Given the description of an element on the screen output the (x, y) to click on. 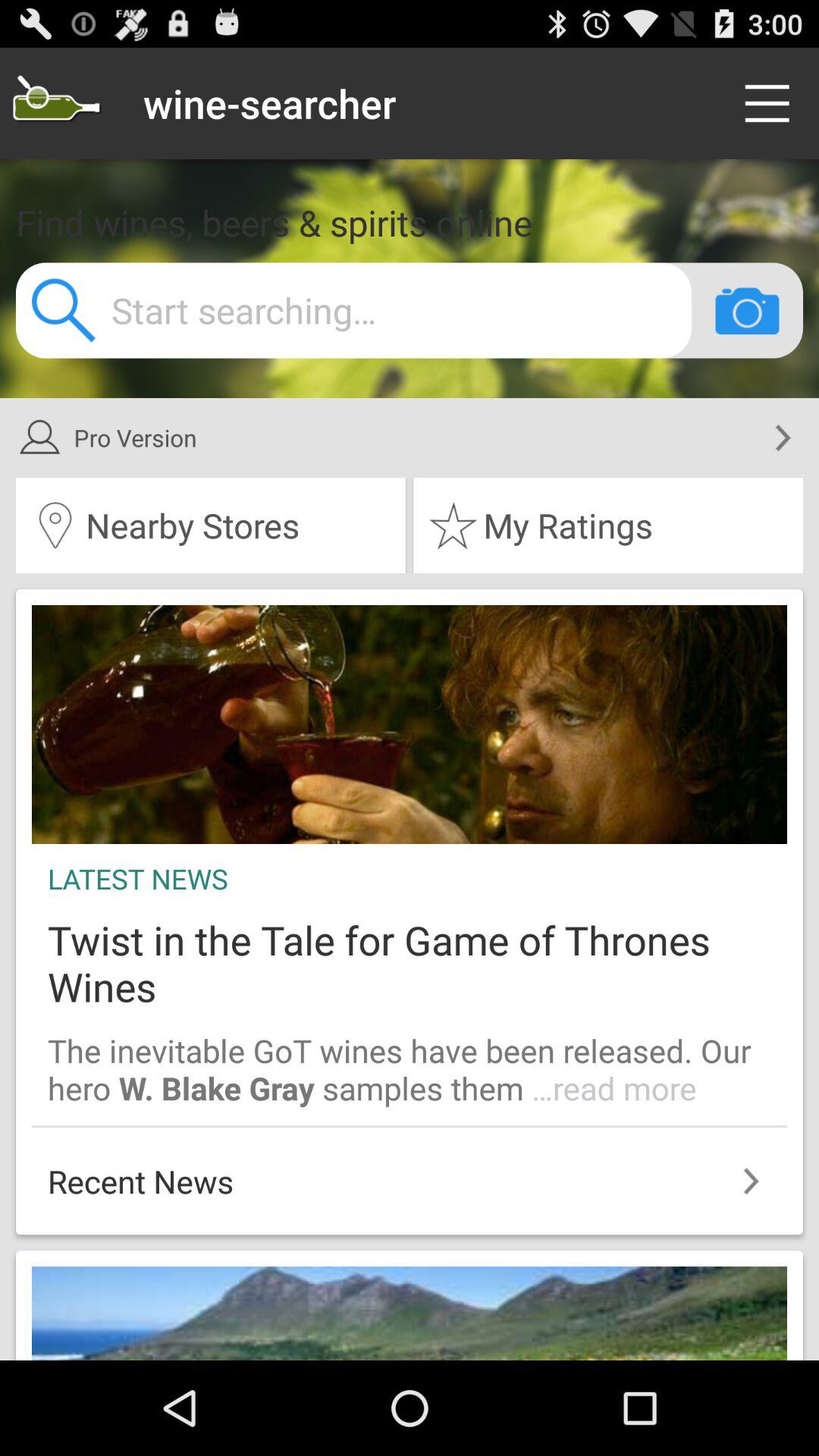
tap my ratings icon (608, 525)
